Given the description of an element on the screen output the (x, y) to click on. 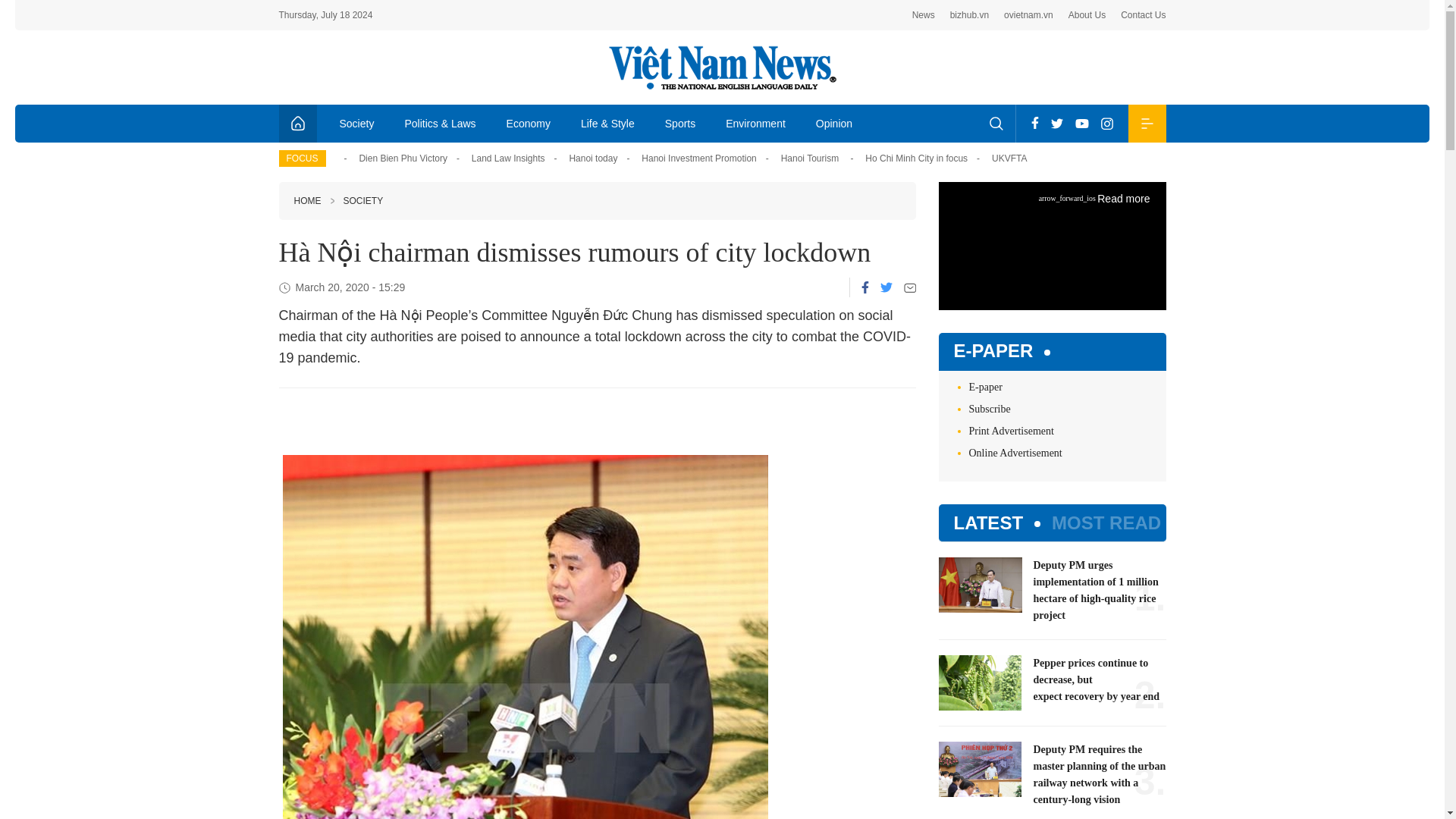
Twitter (885, 286)
Opinion (833, 123)
Youtube (1081, 122)
Twitter (1056, 122)
Economy (529, 123)
Environment (755, 123)
Facebook (1035, 123)
ovietnam.vn (1028, 15)
Instagram (1106, 123)
News (923, 15)
Contact Us (1143, 15)
About Us (1086, 15)
Email (909, 286)
bizhub.vn (969, 15)
Society (357, 123)
